Given the description of an element on the screen output the (x, y) to click on. 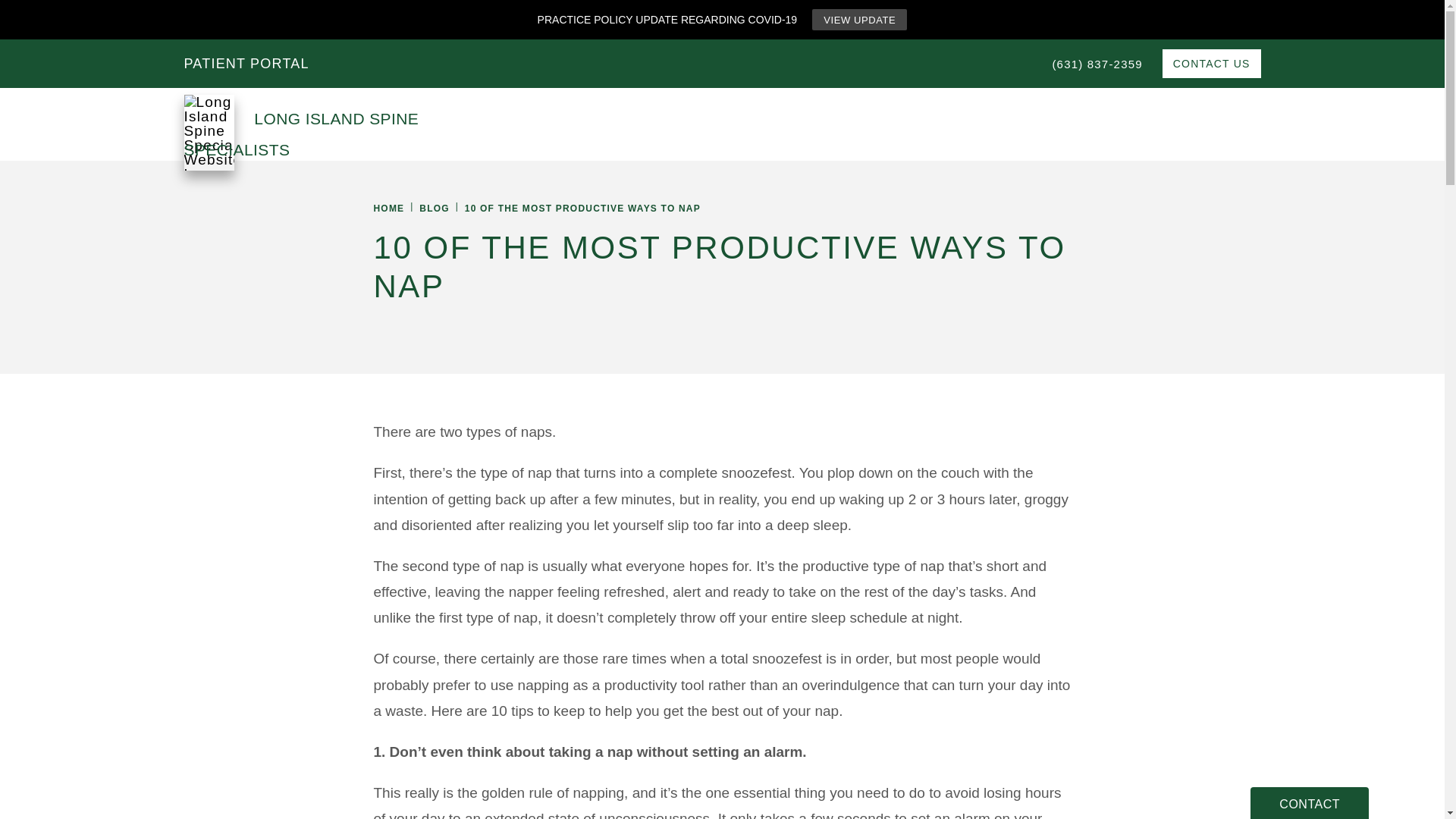
VIEW UPDATE (859, 19)
PATIENT PORTAL (245, 62)
LONG ISLAND SPINE SPECIALISTS (349, 124)
